Given the description of an element on the screen output the (x, y) to click on. 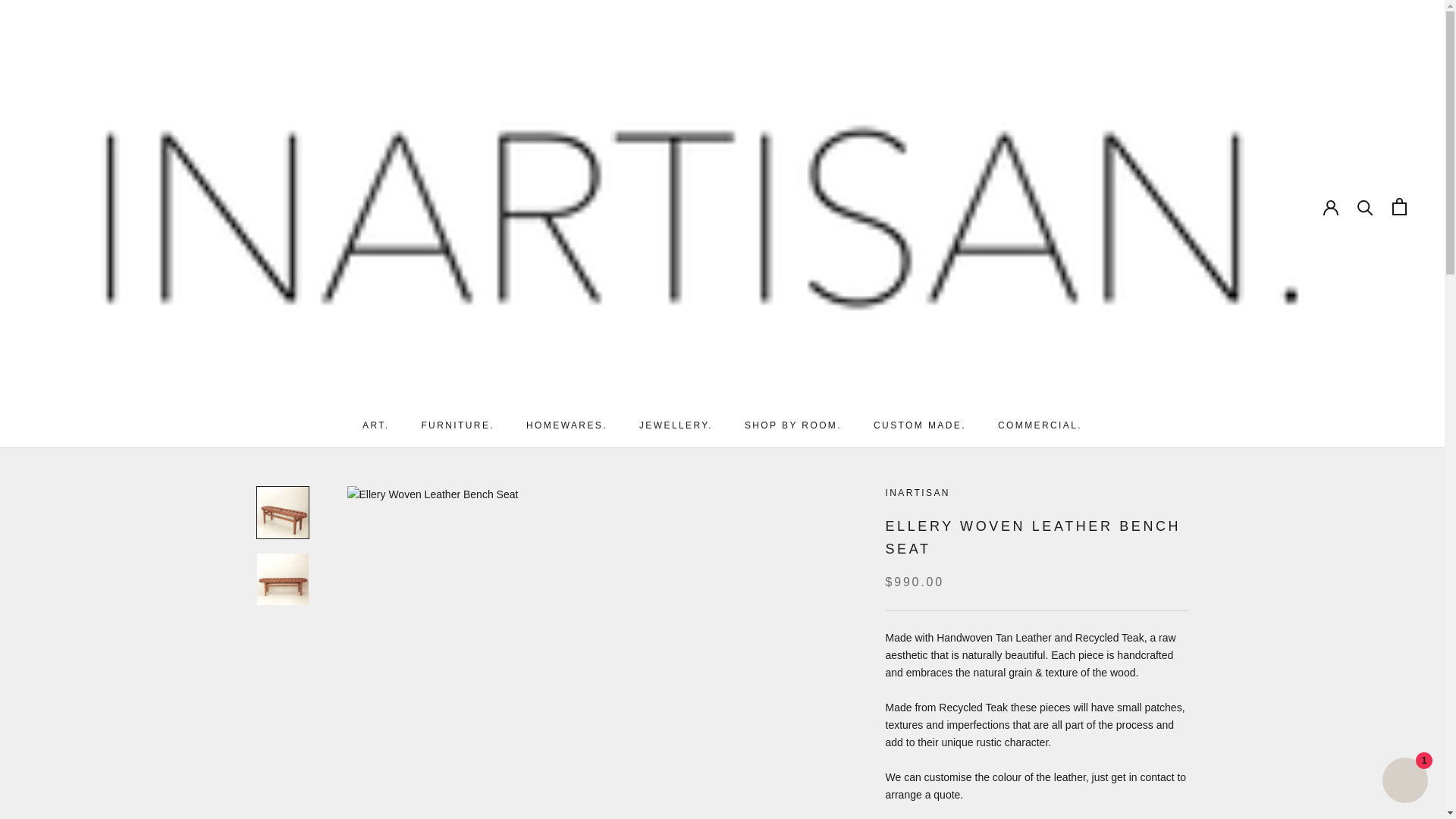
Shopify online store chat (1404, 781)
